Given the description of an element on the screen output the (x, y) to click on. 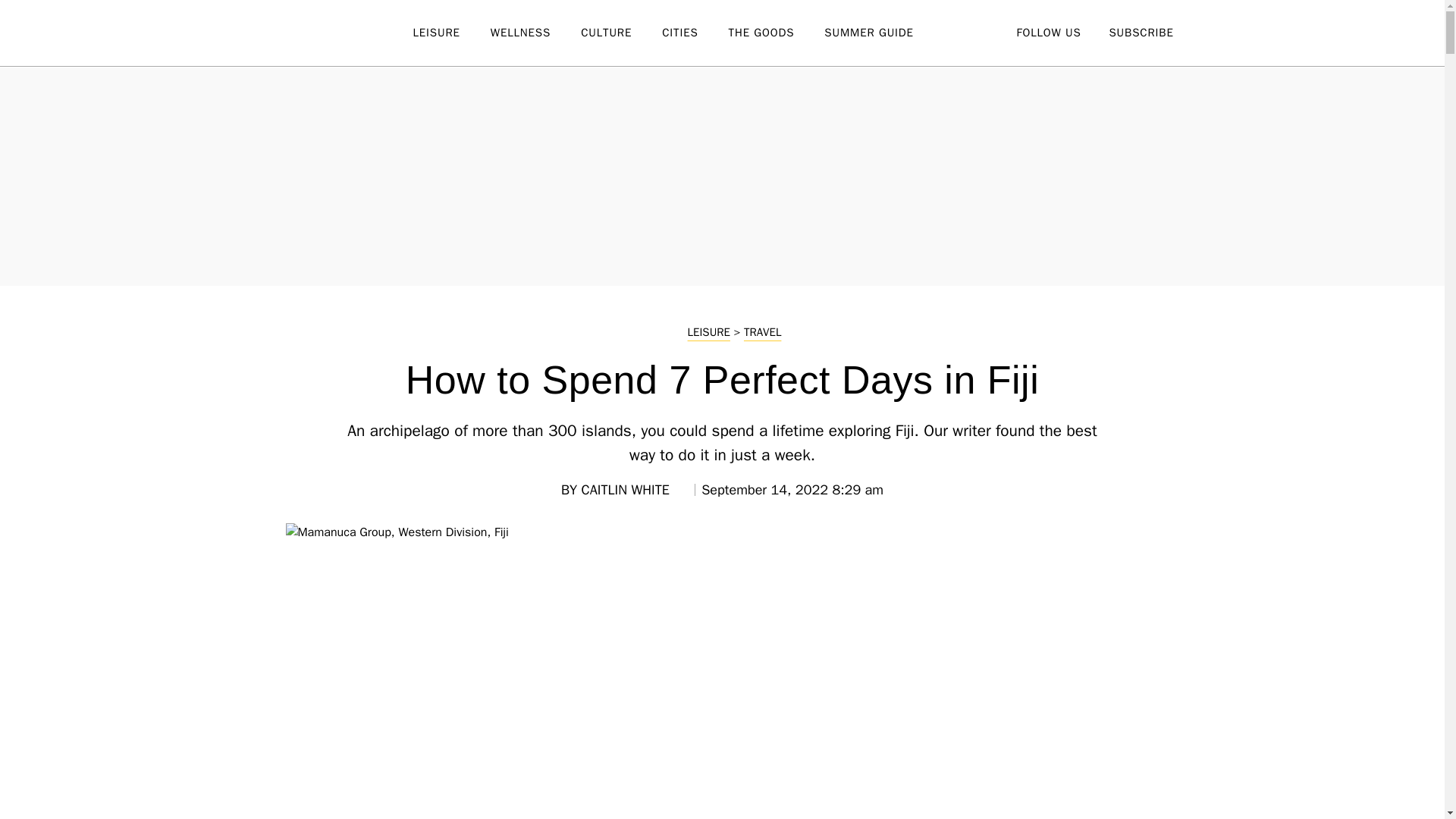
THE GOODS (777, 32)
LEISURE (450, 32)
CULTURE (621, 32)
SUBSCRIBE (1140, 32)
WELLNESS (535, 32)
SUMMER GUIDE (883, 32)
FOLLOW US (1048, 32)
CITIES (695, 32)
